Given the description of an element on the screen output the (x, y) to click on. 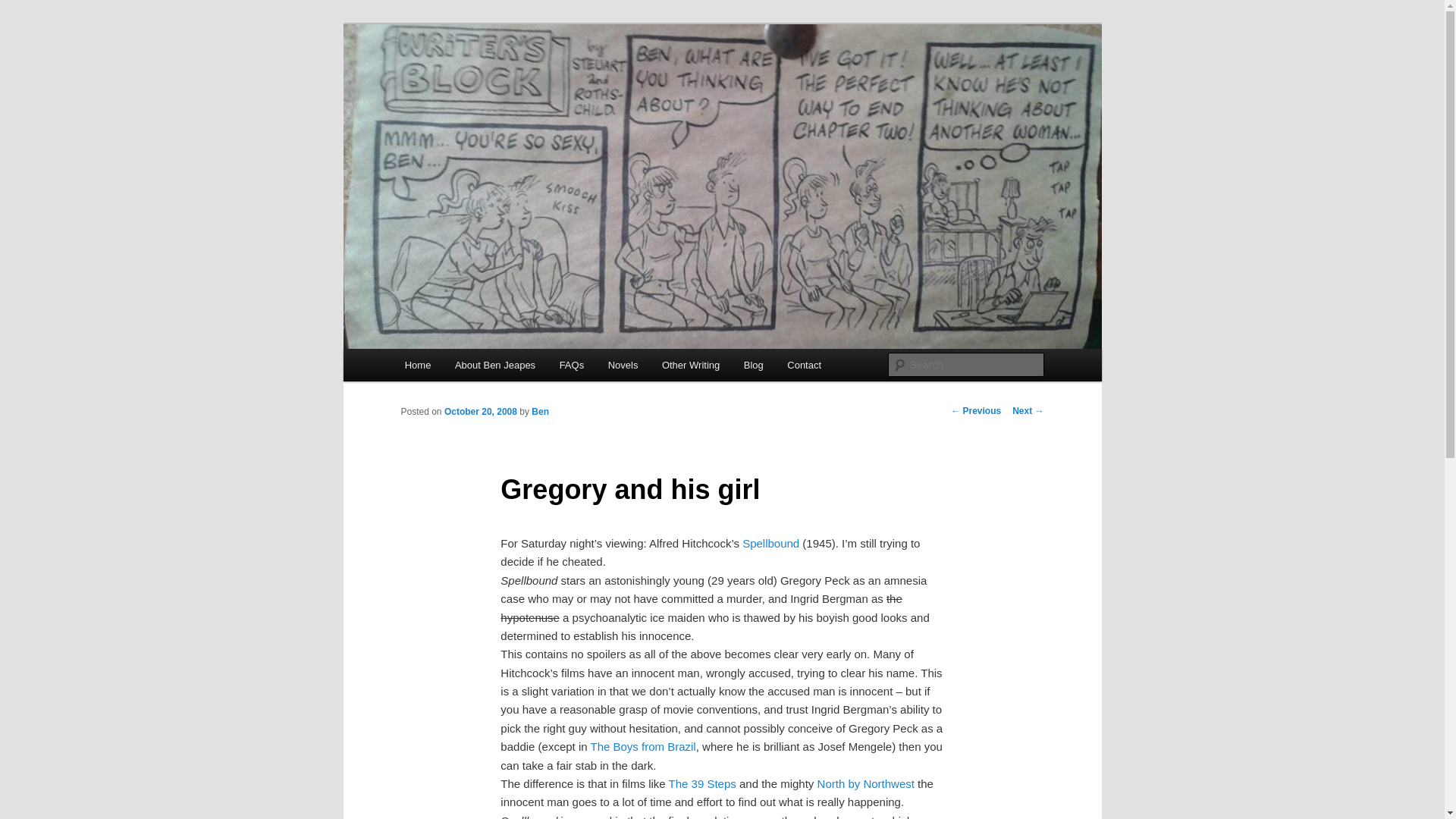
1:28 pm (480, 411)
Ben Jeapes (463, 78)
Home (417, 364)
Other Writing (690, 364)
Search (24, 8)
Novels (622, 364)
View all posts by Ben (539, 411)
FAQs (571, 364)
About Ben Jeapes (494, 364)
